Given the description of an element on the screen output the (x, y) to click on. 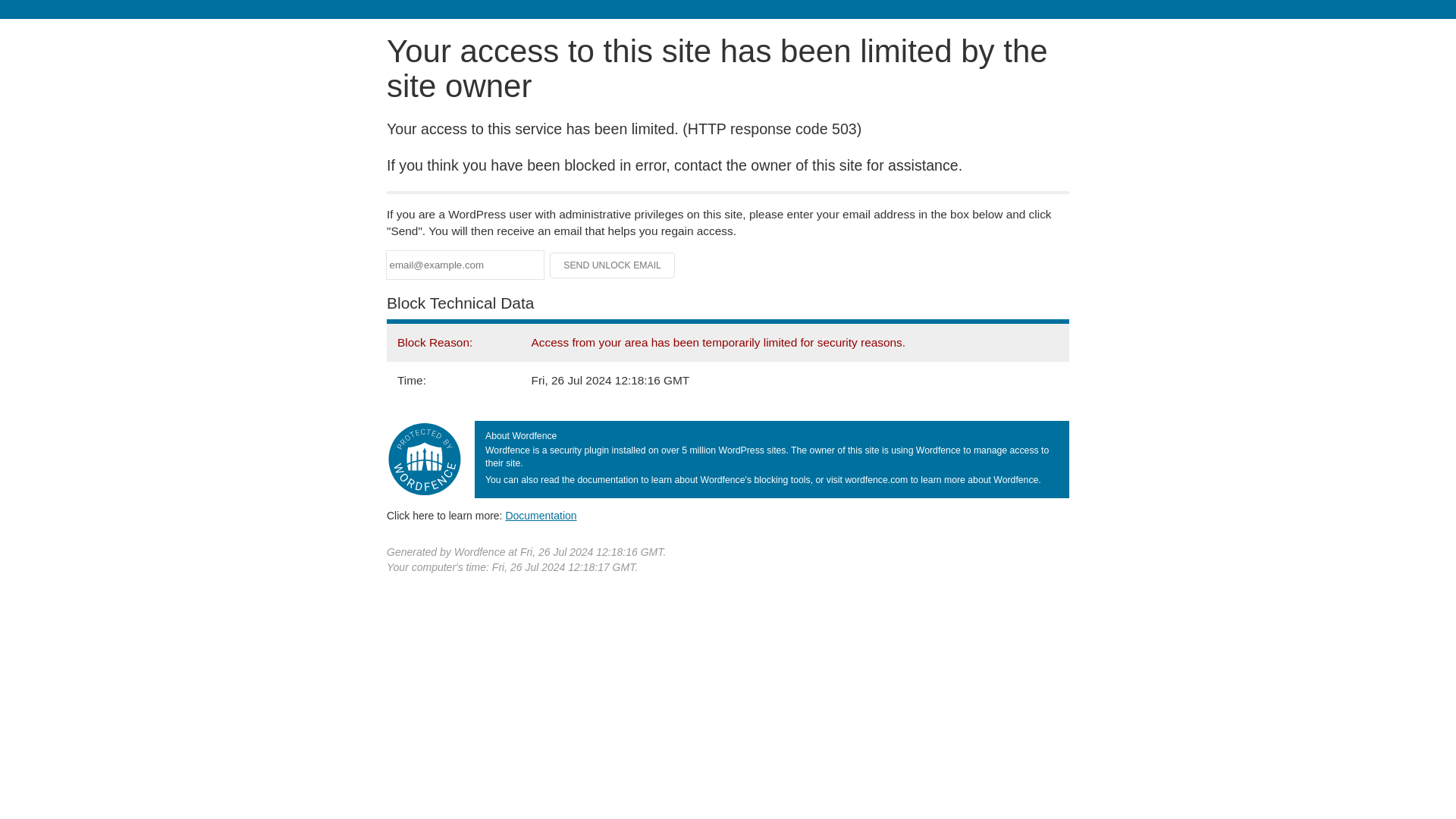
Send Unlock Email (612, 265)
Documentation (540, 515)
Send Unlock Email (612, 265)
